Given the description of an element on the screen output the (x, y) to click on. 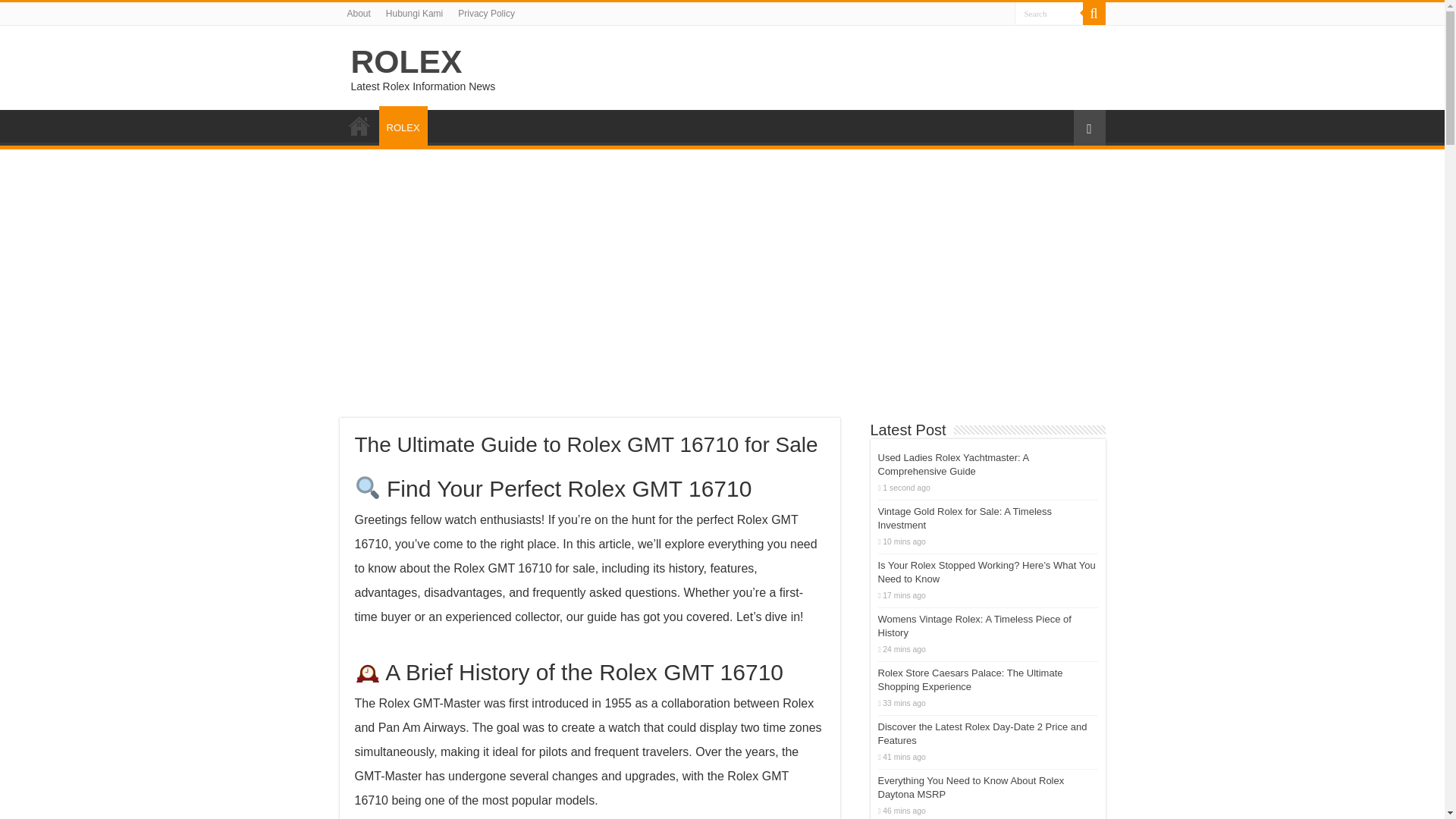
Vintage Gold Rolex for Sale: A Timeless Investment (964, 518)
Privacy Policy (485, 13)
Womens Vintage Rolex: A Timeless Piece of History (974, 625)
Search (1048, 13)
Used Ladies Rolex Yachtmaster: A Comprehensive Guide (953, 464)
Search (1094, 13)
Hubungi Kami (413, 13)
About (358, 13)
HOME (358, 125)
ROLEX (405, 61)
Search (1048, 13)
Everything You Need to Know About Rolex Daytona MSRP (970, 787)
Discover the Latest Rolex Day-Date 2 Price and Features (982, 733)
Rolex Store Caesars Palace: The Ultimate Shopping Experience (969, 679)
